Given the description of an element on the screen output the (x, y) to click on. 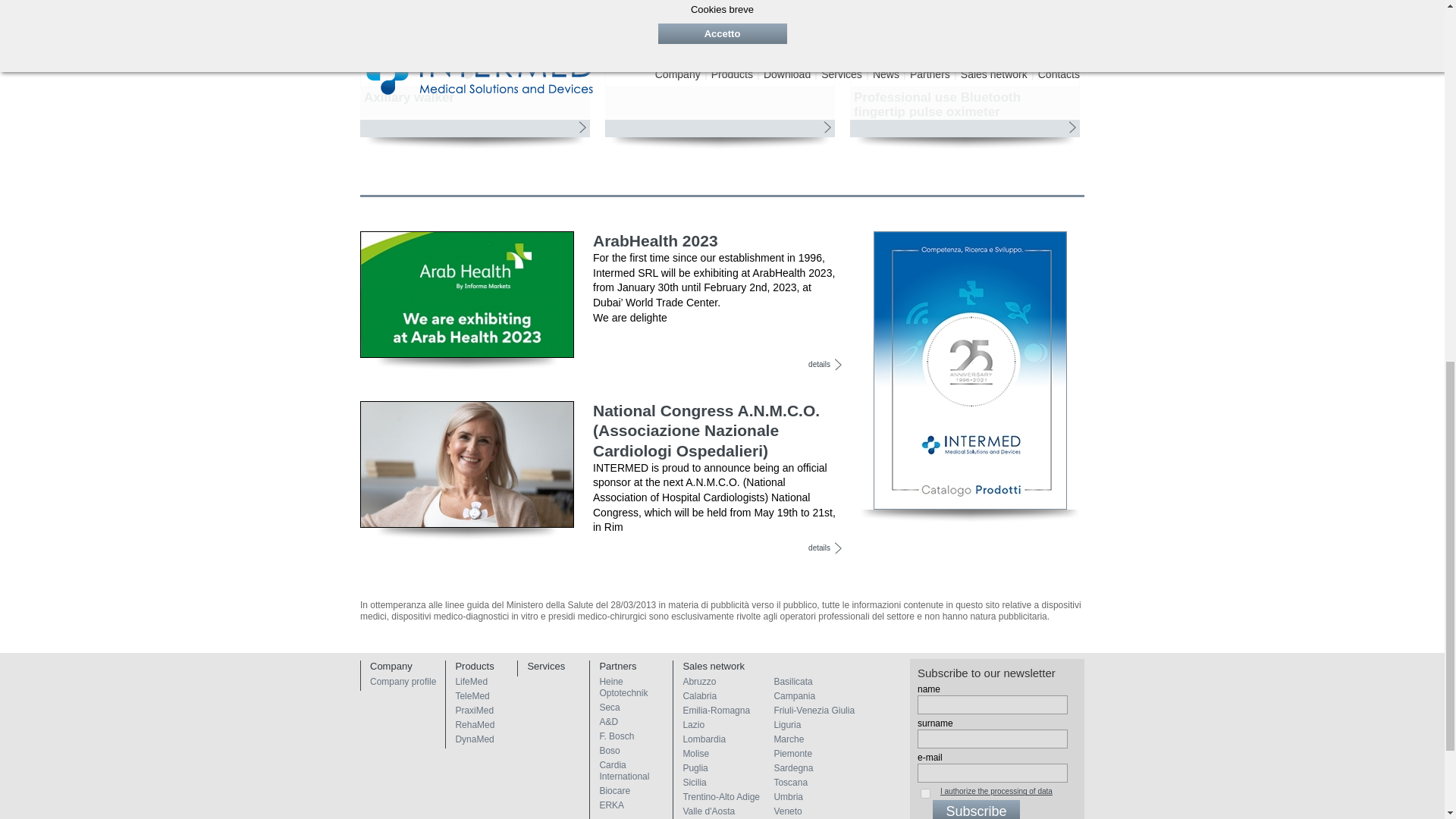
1 (925, 793)
Company profile (402, 681)
details (824, 548)
Axillary walker (474, 74)
Axillary walker (474, 43)
ArabHealth 2023 (466, 293)
Company (402, 666)
details (824, 364)
ArabHealth 2023 (654, 240)
Professional use Bluetooth fingertip pulse oximeter (965, 74)
